Given the description of an element on the screen output the (x, y) to click on. 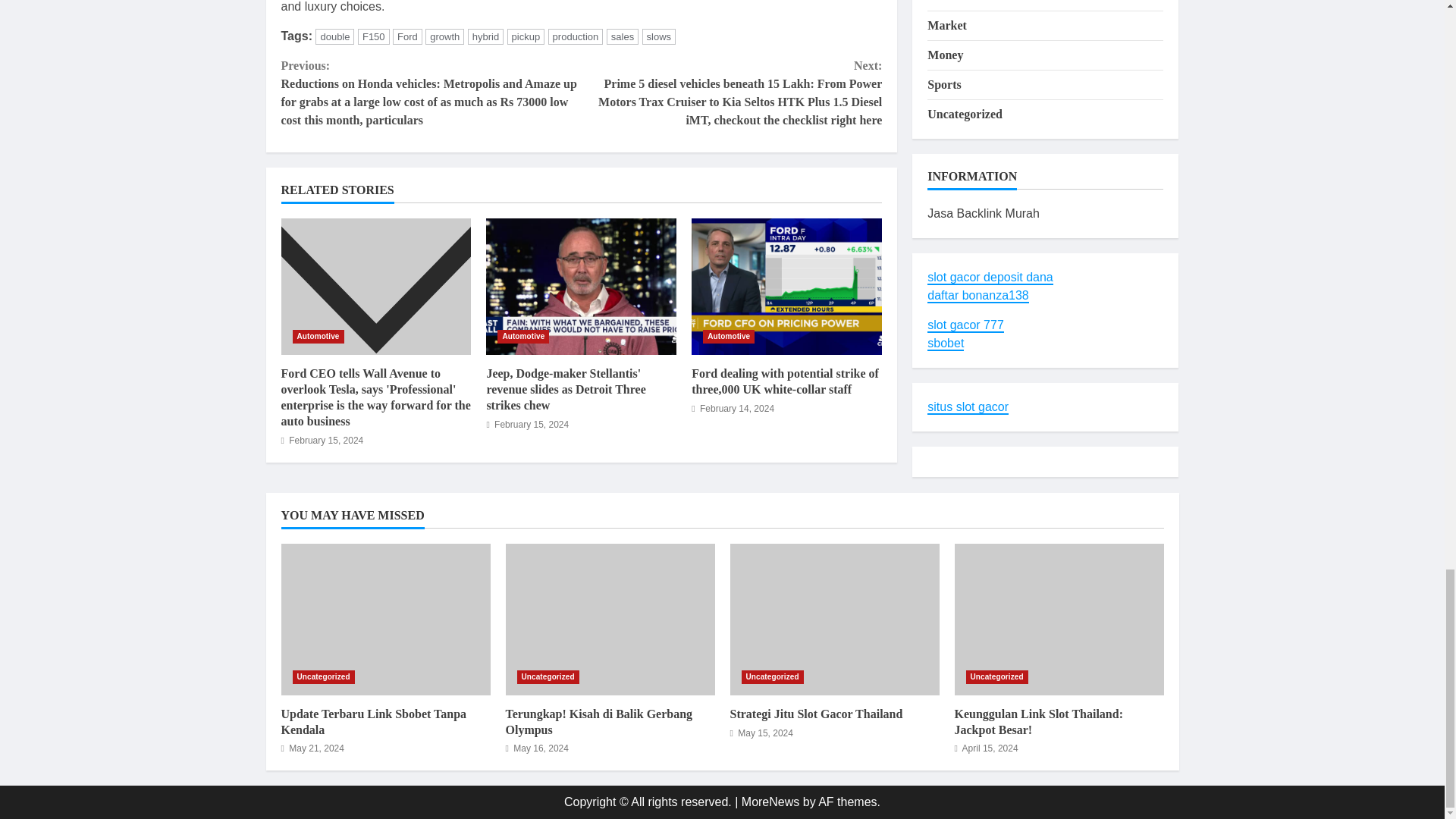
double (334, 36)
